Given the description of an element on the screen output the (x, y) to click on. 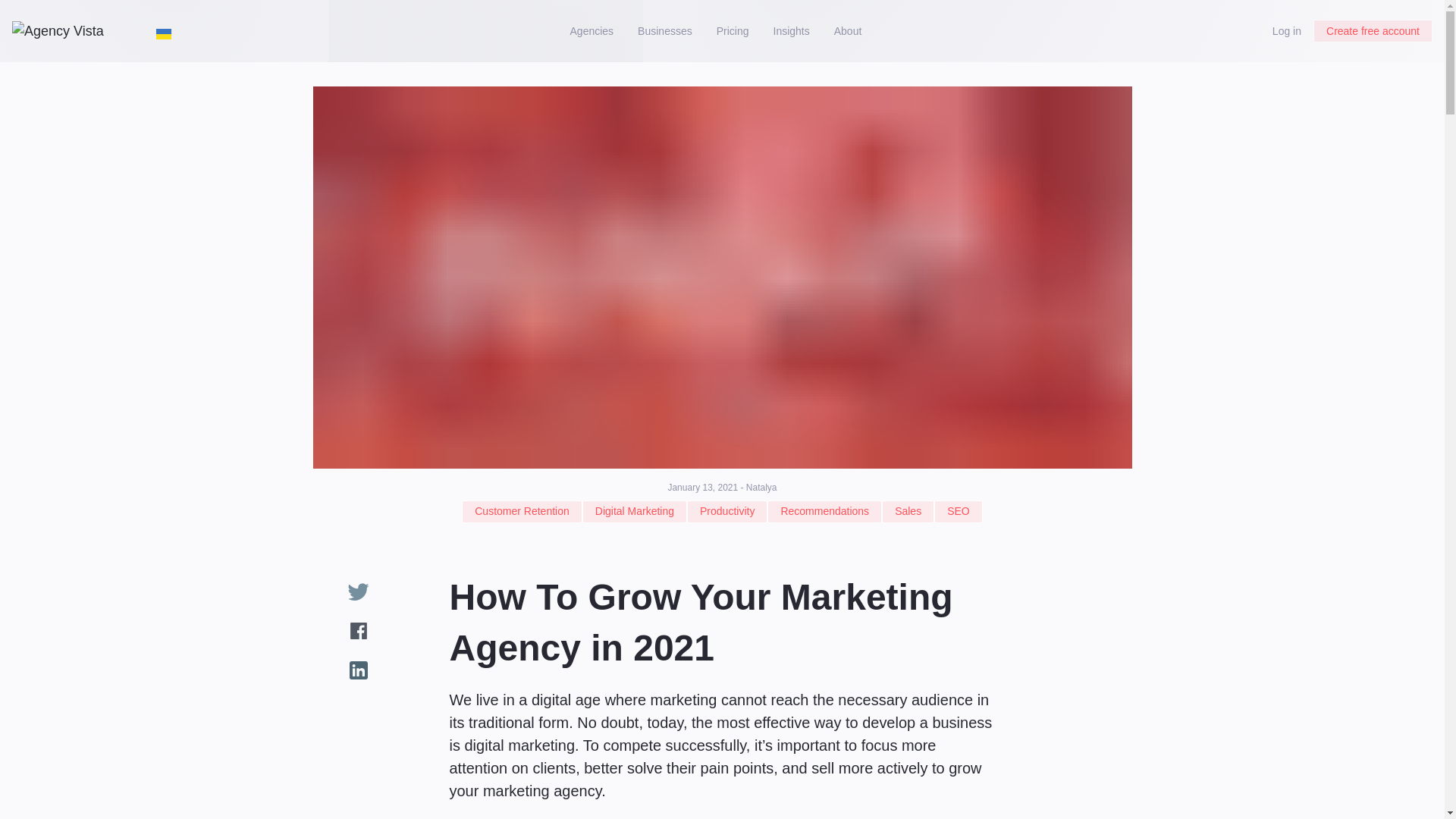
Pricing (732, 31)
Businesses (665, 31)
About (848, 31)
Recommendations (824, 511)
Log in (1286, 31)
Agencies (591, 31)
SEO (958, 511)
Digital Marketing (634, 511)
Insights (791, 31)
Customer Retention (521, 511)
